Given the description of an element on the screen output the (x, y) to click on. 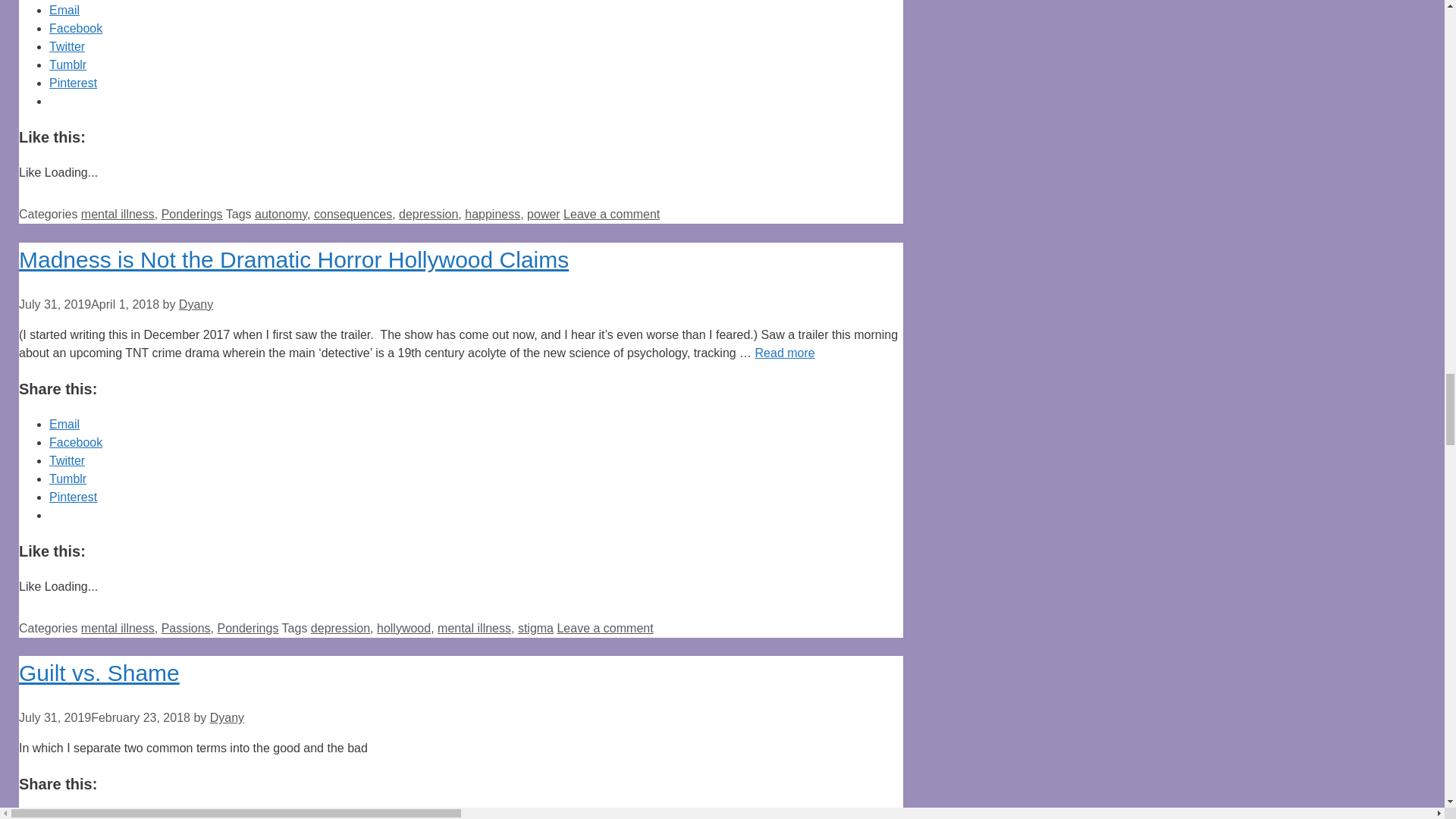
Pinterest (73, 82)
Twitter (66, 46)
Click to share on Pinterest (73, 82)
View all posts by Dyany (195, 304)
happiness (491, 214)
consequences (352, 214)
Facebook (75, 28)
Leave a comment (611, 214)
mental illness (117, 214)
Madness is Not the Dramatic Horror Hollywood Claims (293, 259)
